Given the description of an element on the screen output the (x, y) to click on. 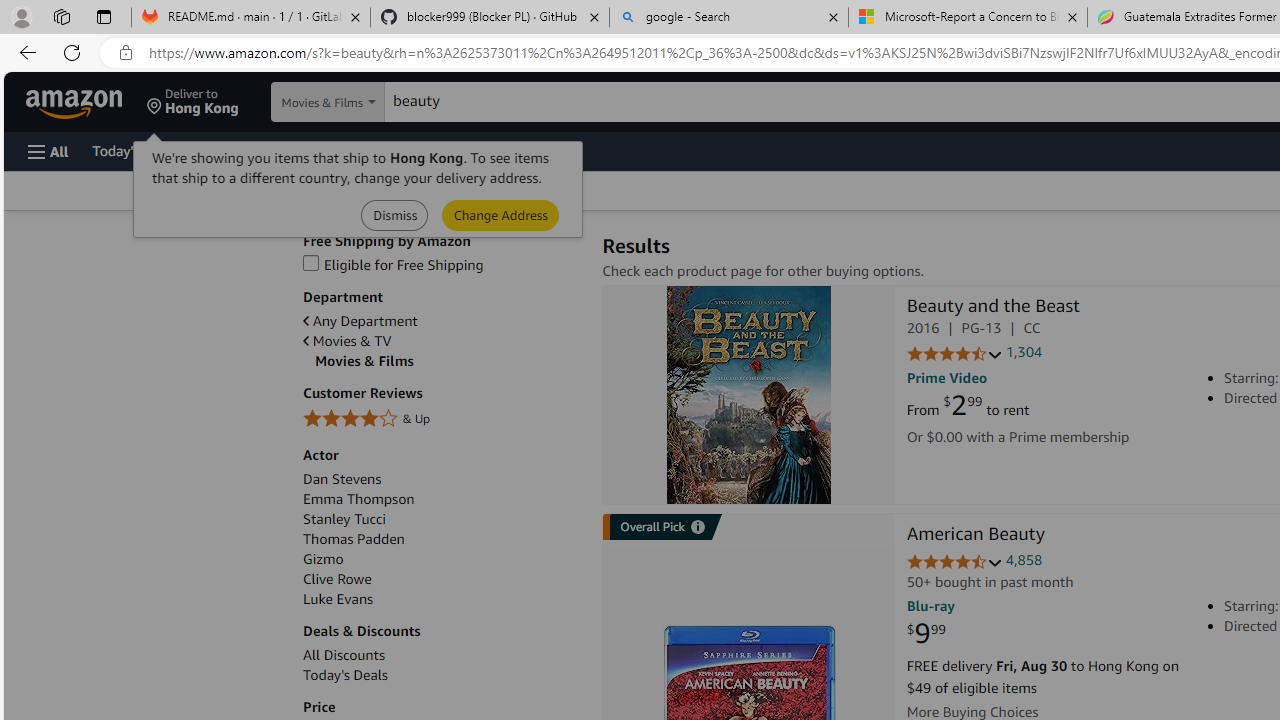
4 Stars & Up (442, 419)
Gift Cards (442, 150)
Beauty and the Beast (993, 308)
All Discounts (442, 655)
Any Department (360, 321)
Customer Service (256, 150)
Amazon (76, 101)
Blu-ray (930, 606)
Registry (360, 150)
Search in (371, 102)
Tab actions menu (104, 16)
Refresh (72, 52)
$9.99 (925, 634)
Deliver to Hong Kong (193, 101)
